Given the description of an element on the screen output the (x, y) to click on. 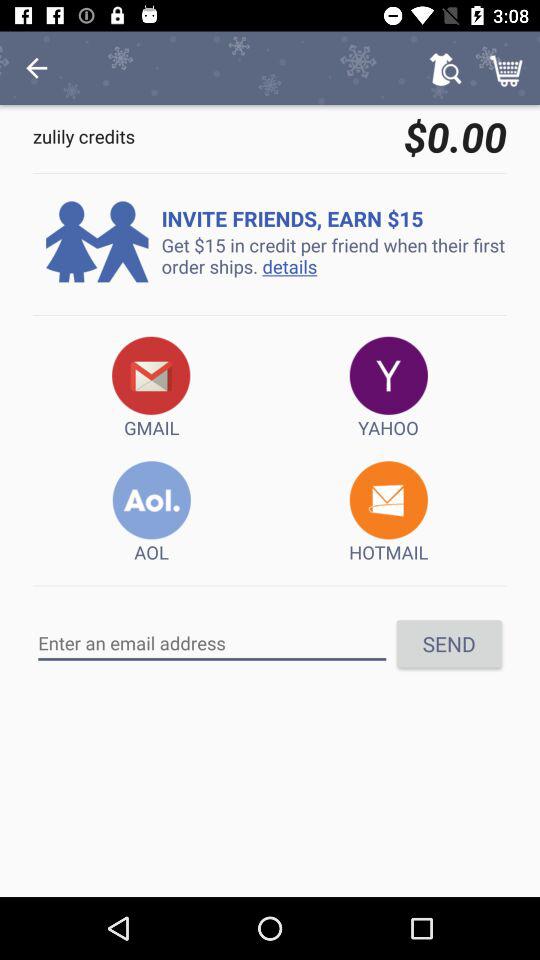
choose icon above aol item (151, 388)
